Given the description of an element on the screen output the (x, y) to click on. 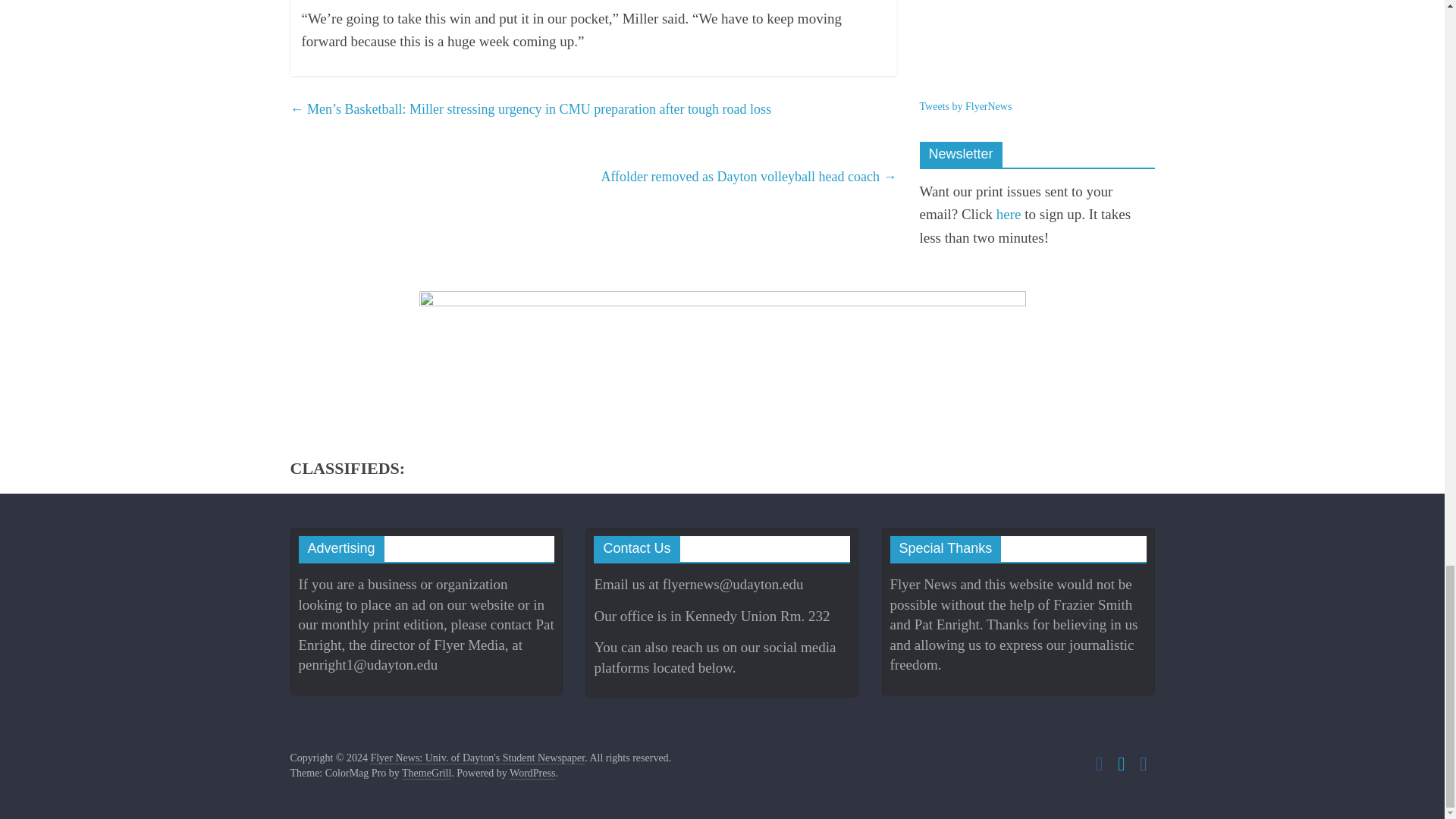
WordPress (531, 773)
ThemeGrill (426, 773)
Flyer News: Univ. of Dayton's Student Newspaper (477, 758)
